Given the description of an element on the screen output the (x, y) to click on. 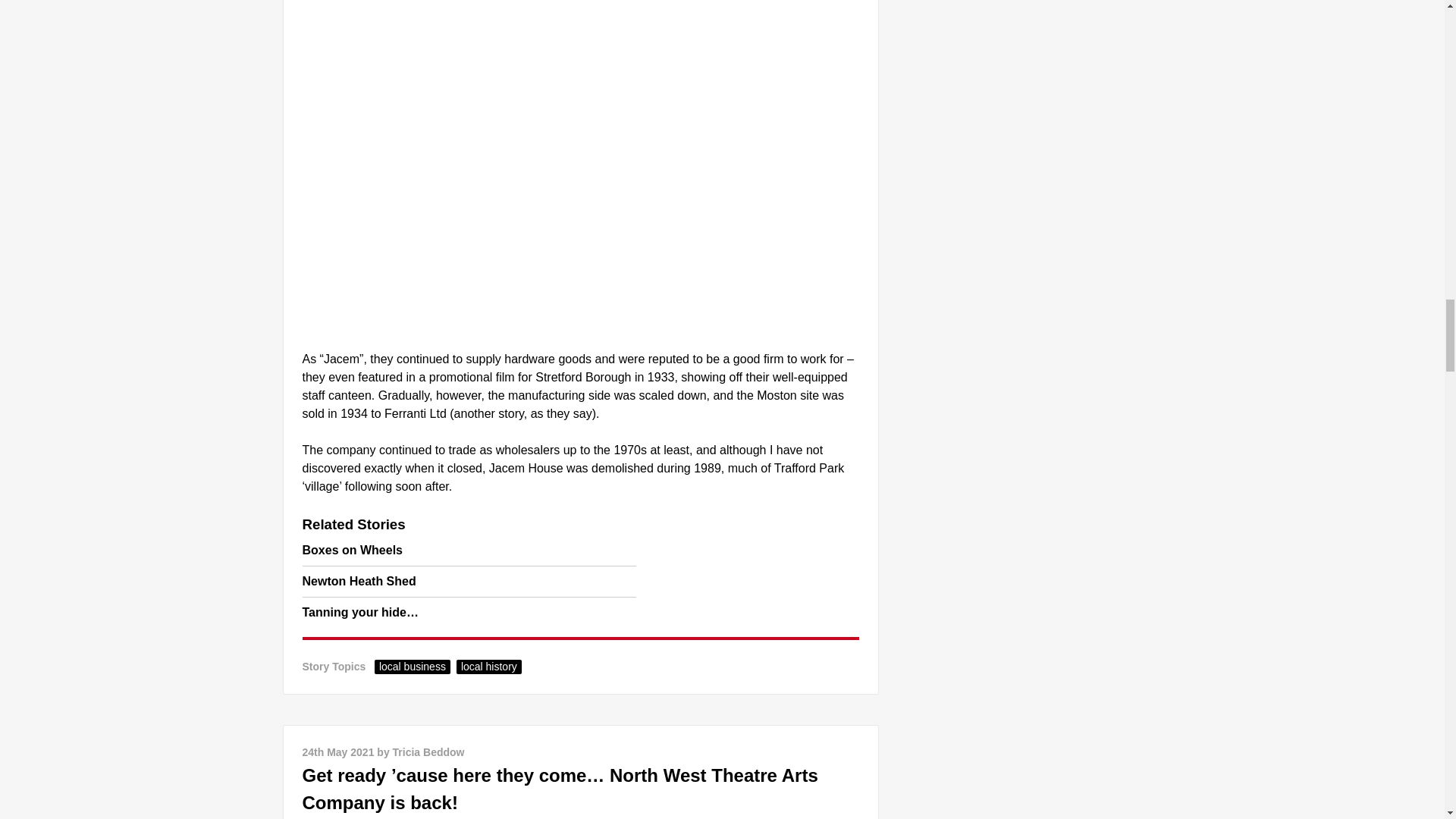
Tricia Beddow (428, 752)
24th May 2021 (337, 752)
local history (489, 667)
local business (411, 667)
Newton Heath Shed (357, 581)
Boxes on Wheels (351, 549)
